Given the description of an element on the screen output the (x, y) to click on. 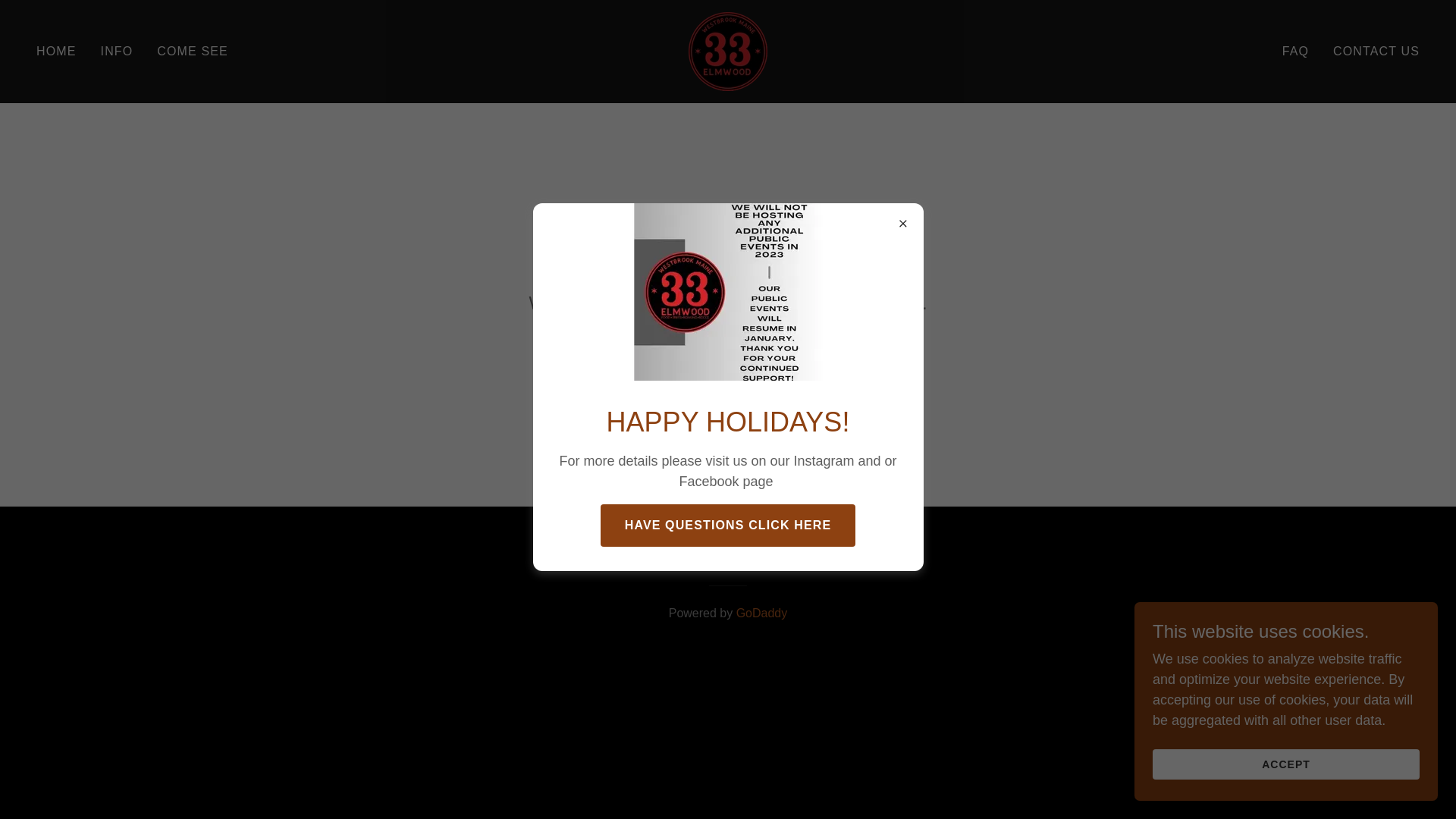
GoDaddy Element type: text (761, 612)
33 Elmwood Element type: hover (727, 50)
HAVE QUESTIONS CLICK HERE Element type: text (728, 524)
INFO Element type: text (117, 51)
CONTACT US Element type: text (1376, 51)
HOME Element type: text (56, 51)
COME SEE Element type: text (192, 51)
ACCEPT Element type: text (1285, 764)
GO TO HOME PAGE Element type: text (727, 362)
FAQ Element type: text (1295, 51)
